Given the description of an element on the screen output the (x, y) to click on. 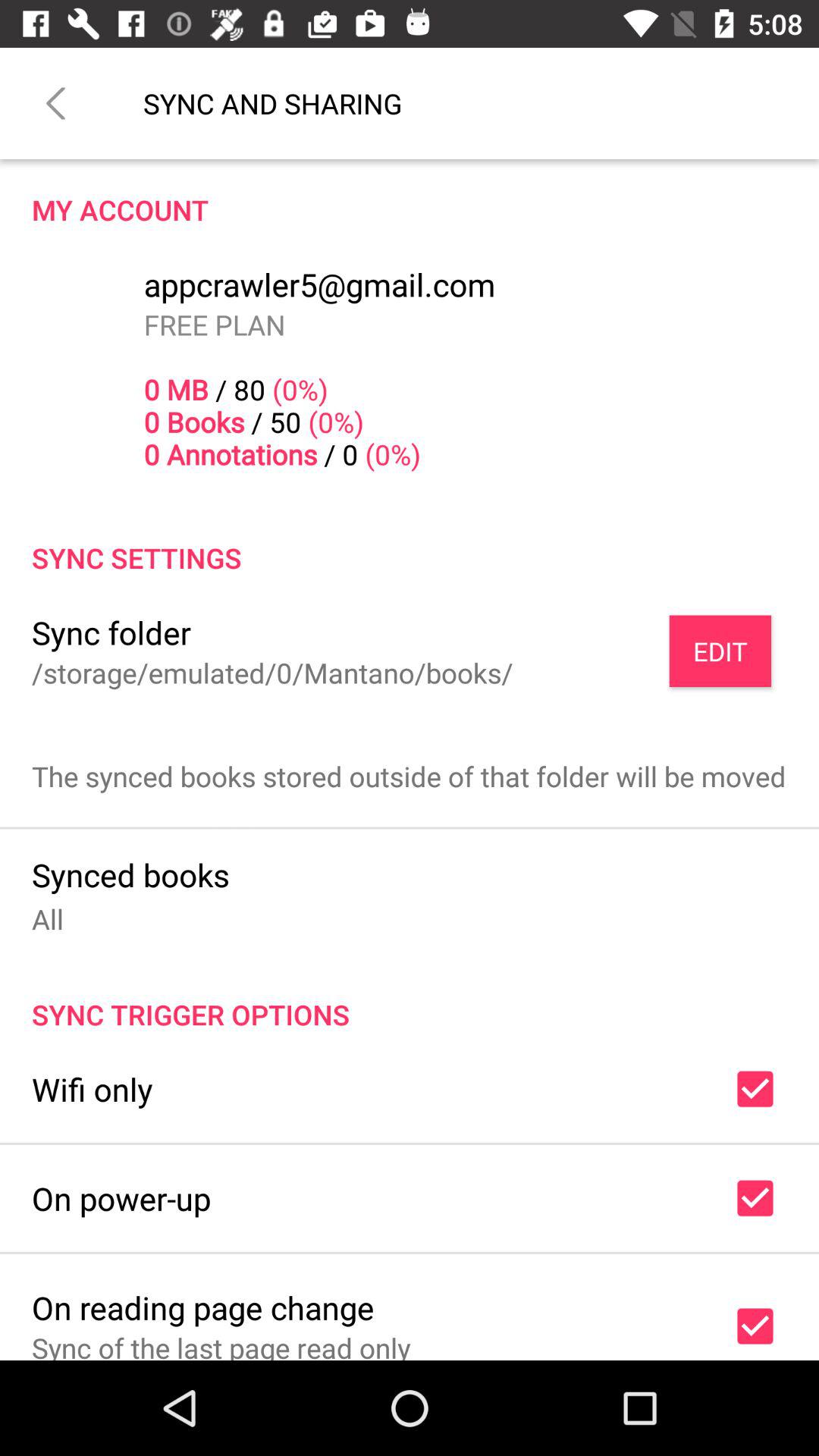
press item below the sync folder item (272, 672)
